Given the description of an element on the screen output the (x, y) to click on. 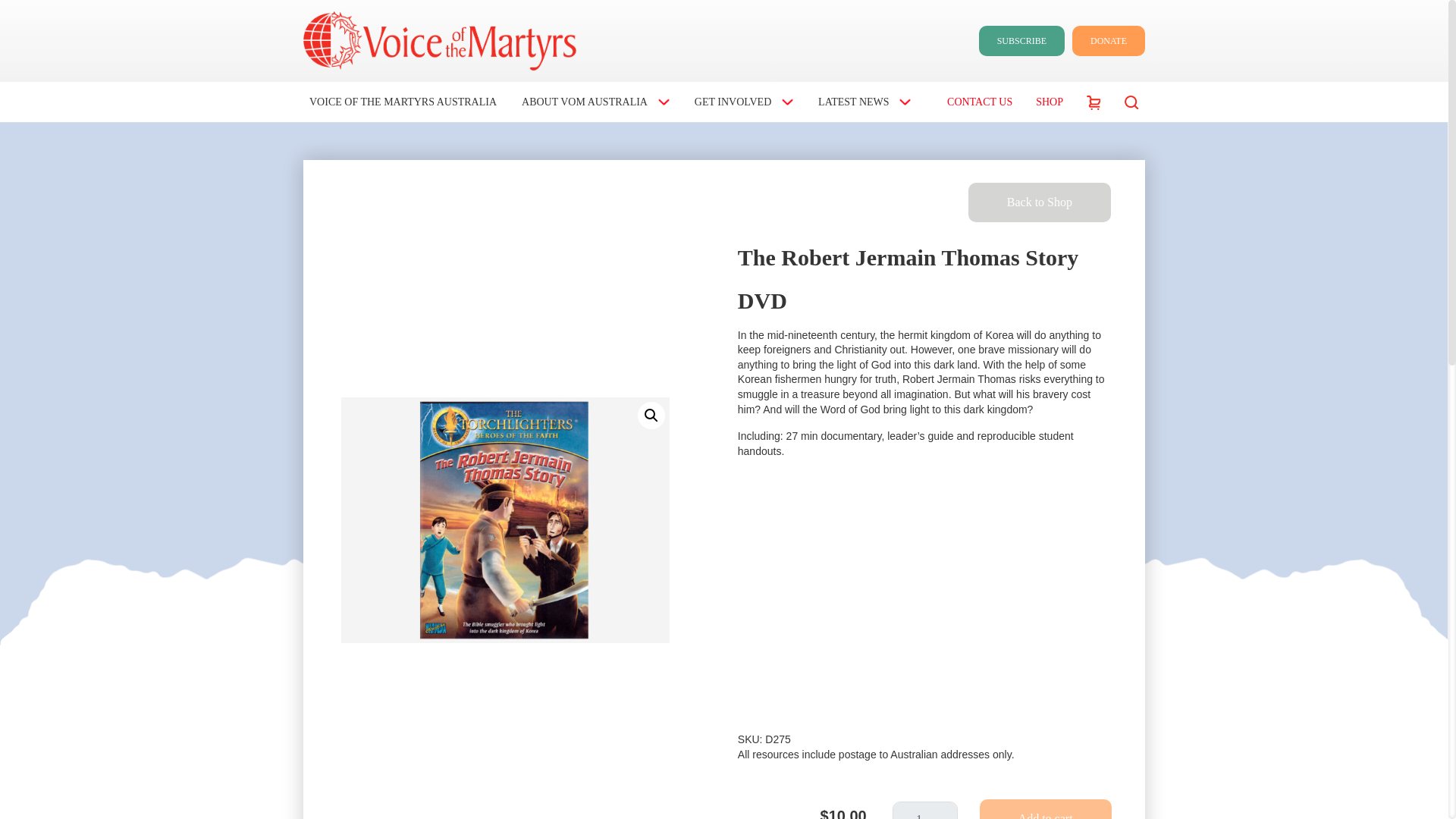
1 (925, 810)
GET INVOLVED (740, 102)
LATEST NEWS (861, 102)
Qty (925, 810)
SUBSCRIBE (1021, 40)
DONATE (1107, 40)
VOICE OF THE MARTYRS AUSTRALIA (399, 102)
TheRobertJermainThomasStory.jpg (504, 520)
ABOUT VOM AUSTRALIA (592, 102)
